Given the description of an element on the screen output the (x, y) to click on. 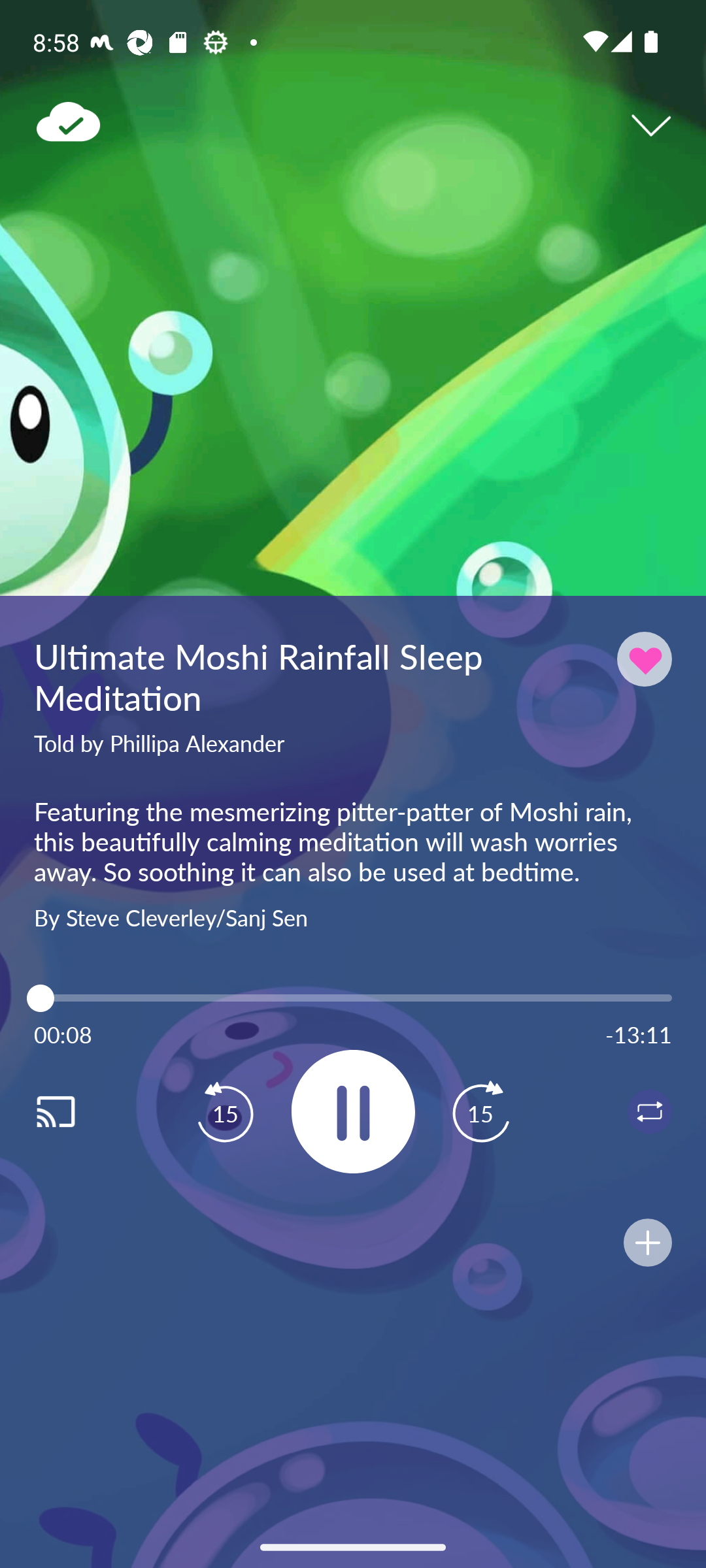
8.0 (352, 997)
Cast. Disconnected (76, 1111)
